Given the description of an element on the screen output the (x, y) to click on. 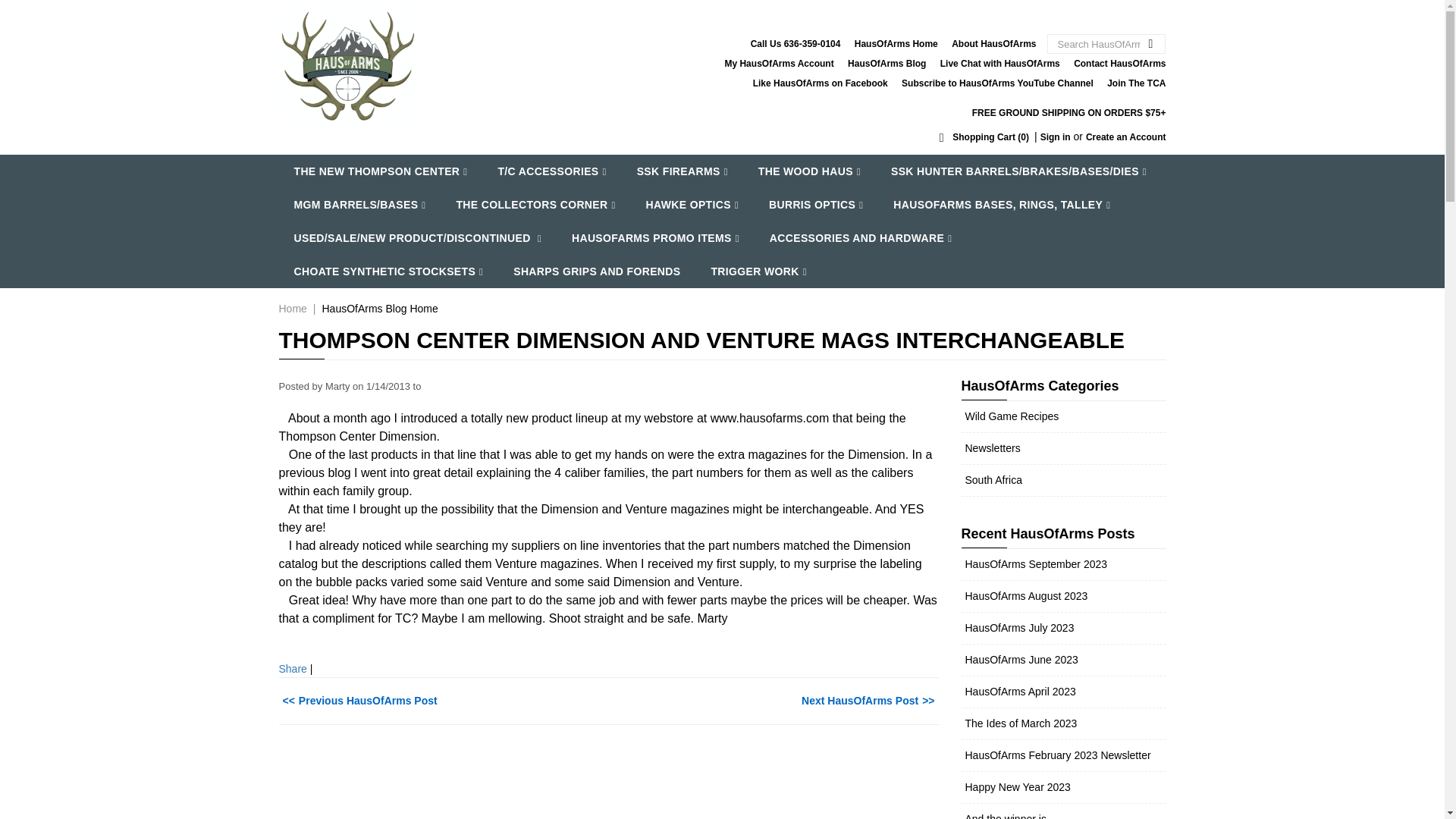
THE WOOD HAUS (809, 171)
SSK FIREARMS (681, 171)
THE NEW THOMPSON CENTER (381, 171)
Like HausOfArms on Facebook (820, 82)
My HausOfArms Account (777, 63)
Subscribe to HausOfArms YouTube Channel (997, 82)
Contact HausOfArms (1120, 63)
Sign in (1055, 136)
About HausOfArms (993, 43)
Join The TCA (1136, 82)
